Given the description of an element on the screen output the (x, y) to click on. 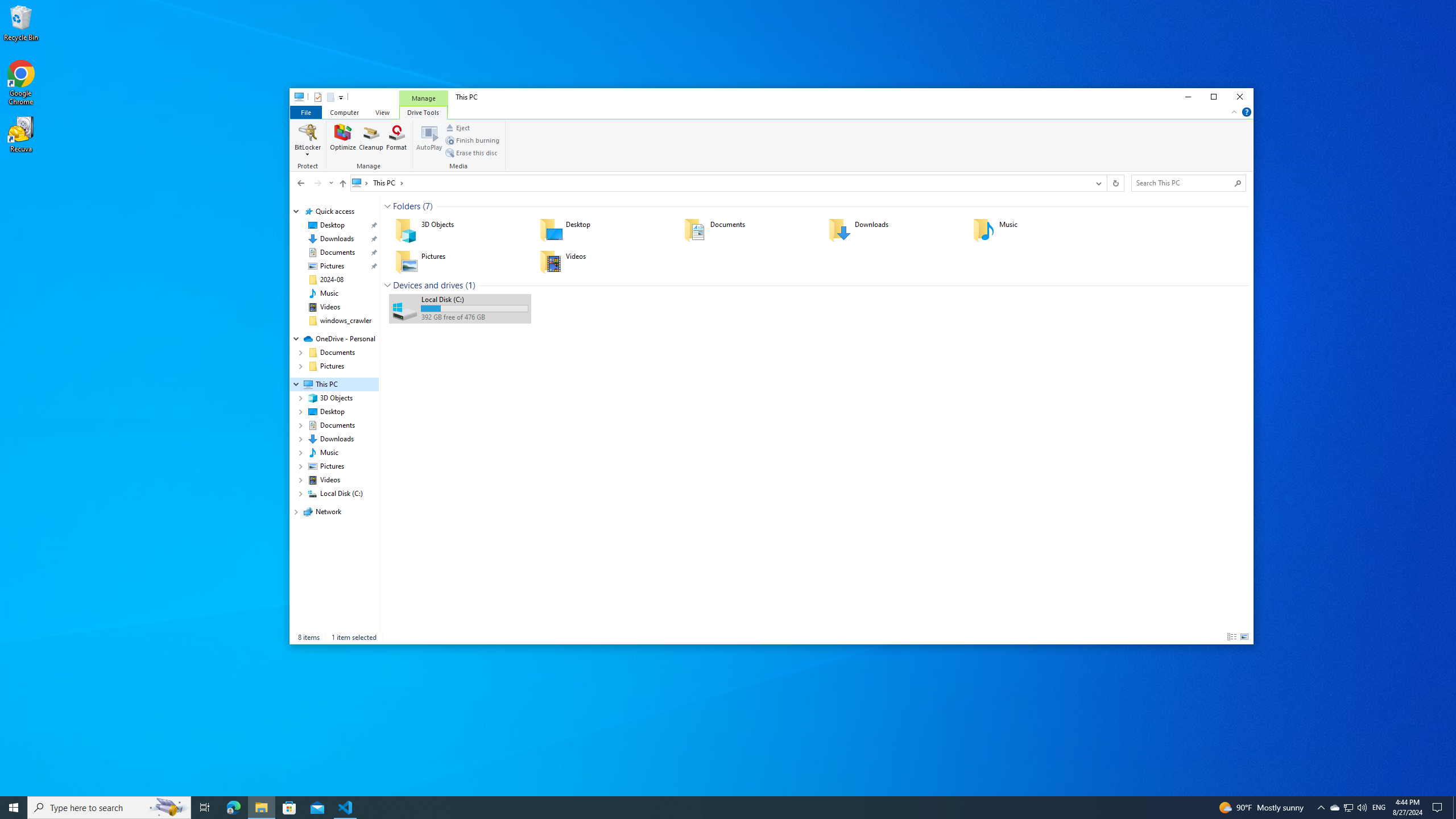
Videos (603, 261)
Close (1240, 96)
Downloads (pinned) (336, 238)
Previous Locations (1097, 182)
Maximize (1214, 96)
Pictures (459, 261)
Computer (343, 111)
File Explorer - 1 running window (261, 807)
Up to "Desktop" (Alt + Up Arrow) (342, 183)
Quick Access Toolbar (323, 96)
Available space (474, 316)
